Given the description of an element on the screen output the (x, y) to click on. 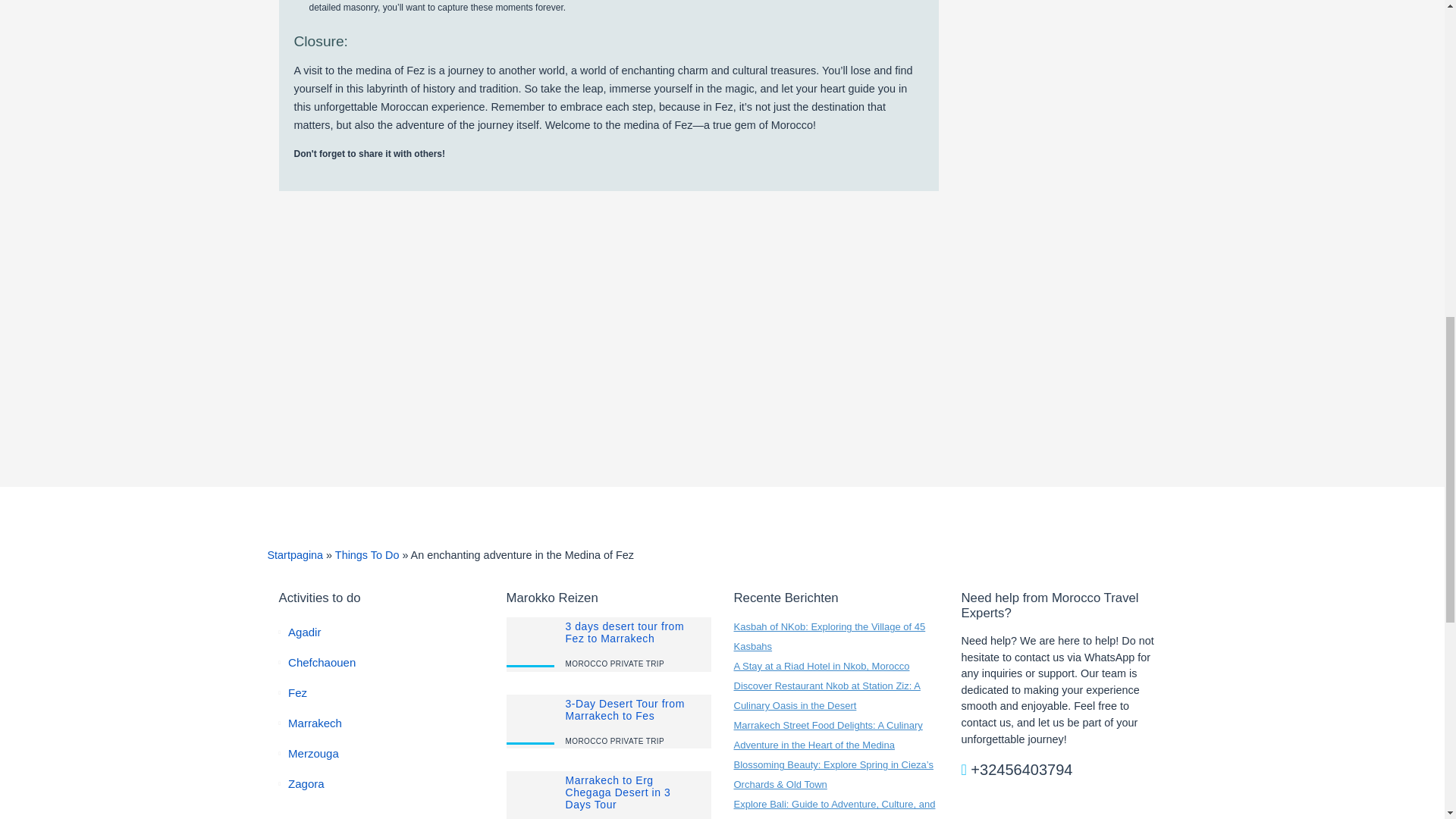
Merzouga (313, 753)
Agadir (304, 631)
Things To Do (366, 554)
3-Day Desert Tour from Marrakech to Fes (625, 709)
Marrakech (315, 722)
Advertisement (1063, 807)
Chefchaouen (321, 662)
Startpagina (294, 554)
3 days desert tour from Fez to Marrakech (625, 631)
